Given the description of an element on the screen output the (x, y) to click on. 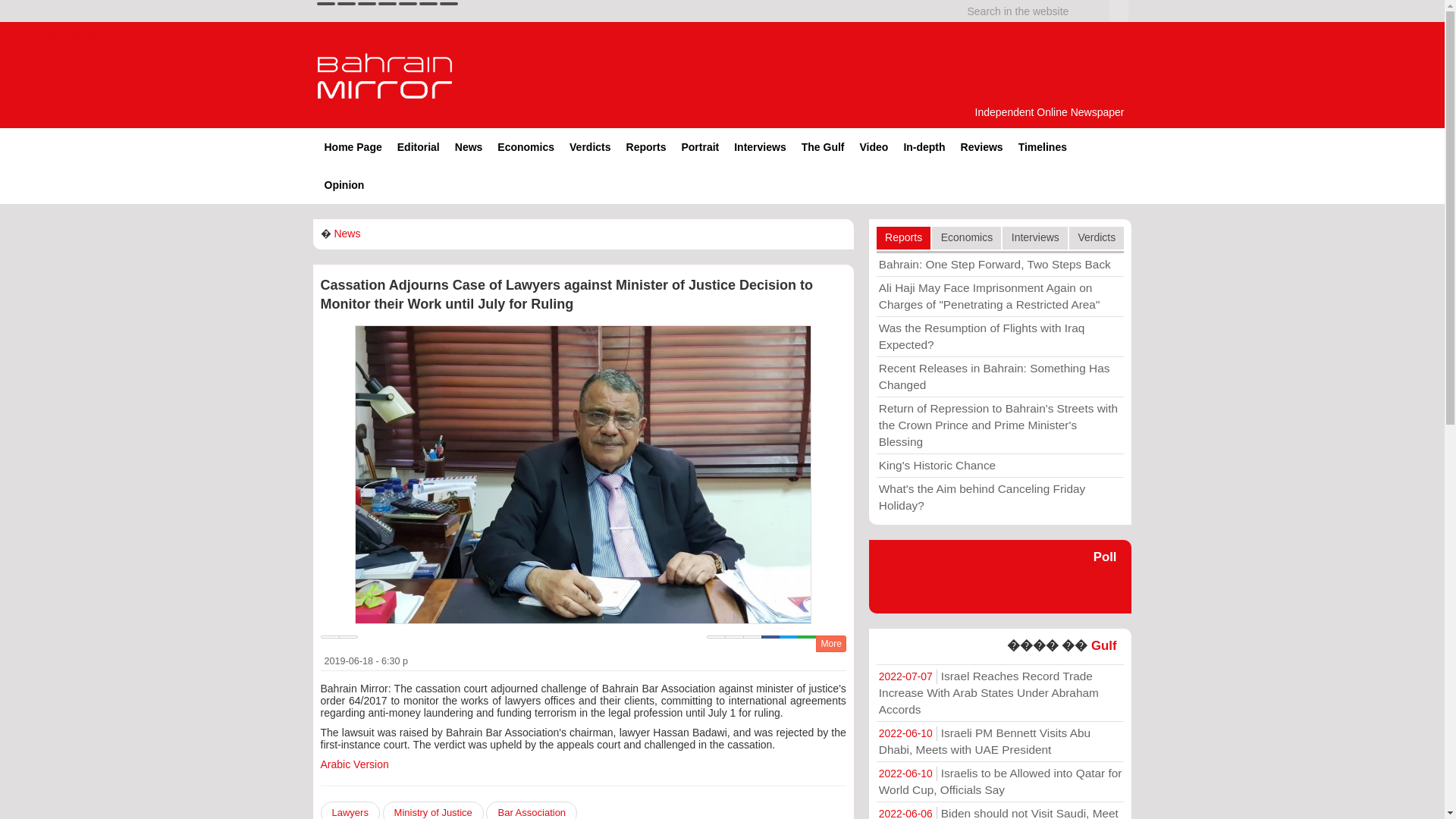
instagram (386, 3)
Facebook (770, 636)
telegram (407, 3)
telegram (407, 3)
Recent Releases in Bahrain: Something Has Changed (1000, 376)
Was the Resumption of Flights with Iraq Expected? (1000, 336)
News (468, 146)
Ministry of Justice (432, 810)
Opinion (344, 184)
What's the Aim behind Canceling Friday Holiday? (1000, 496)
Economics (525, 146)
Android App (448, 3)
facebook (345, 3)
Android App (448, 3)
